Given the description of an element on the screen output the (x, y) to click on. 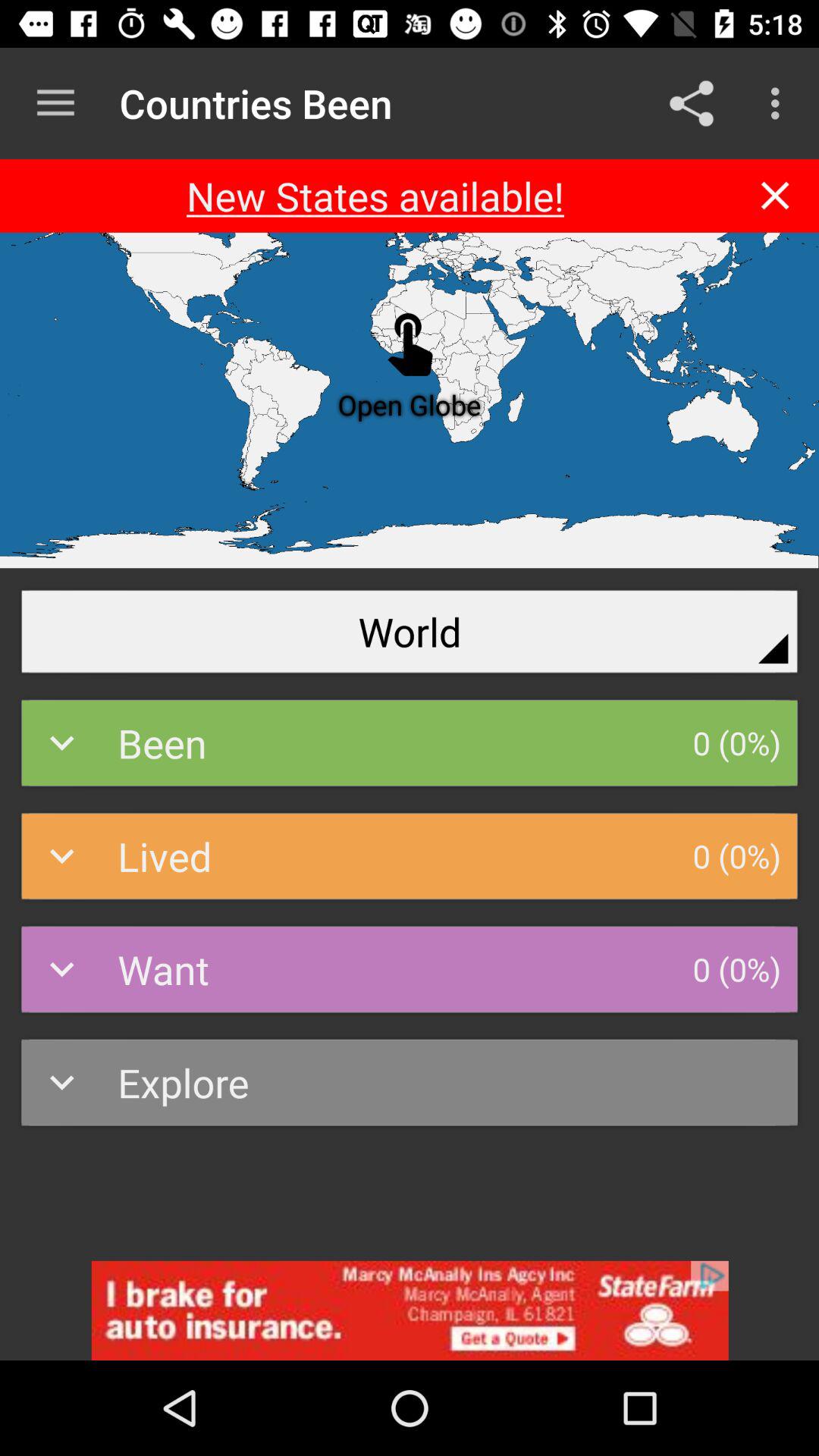
countries been (409, 1310)
